Given the description of an element on the screen output the (x, y) to click on. 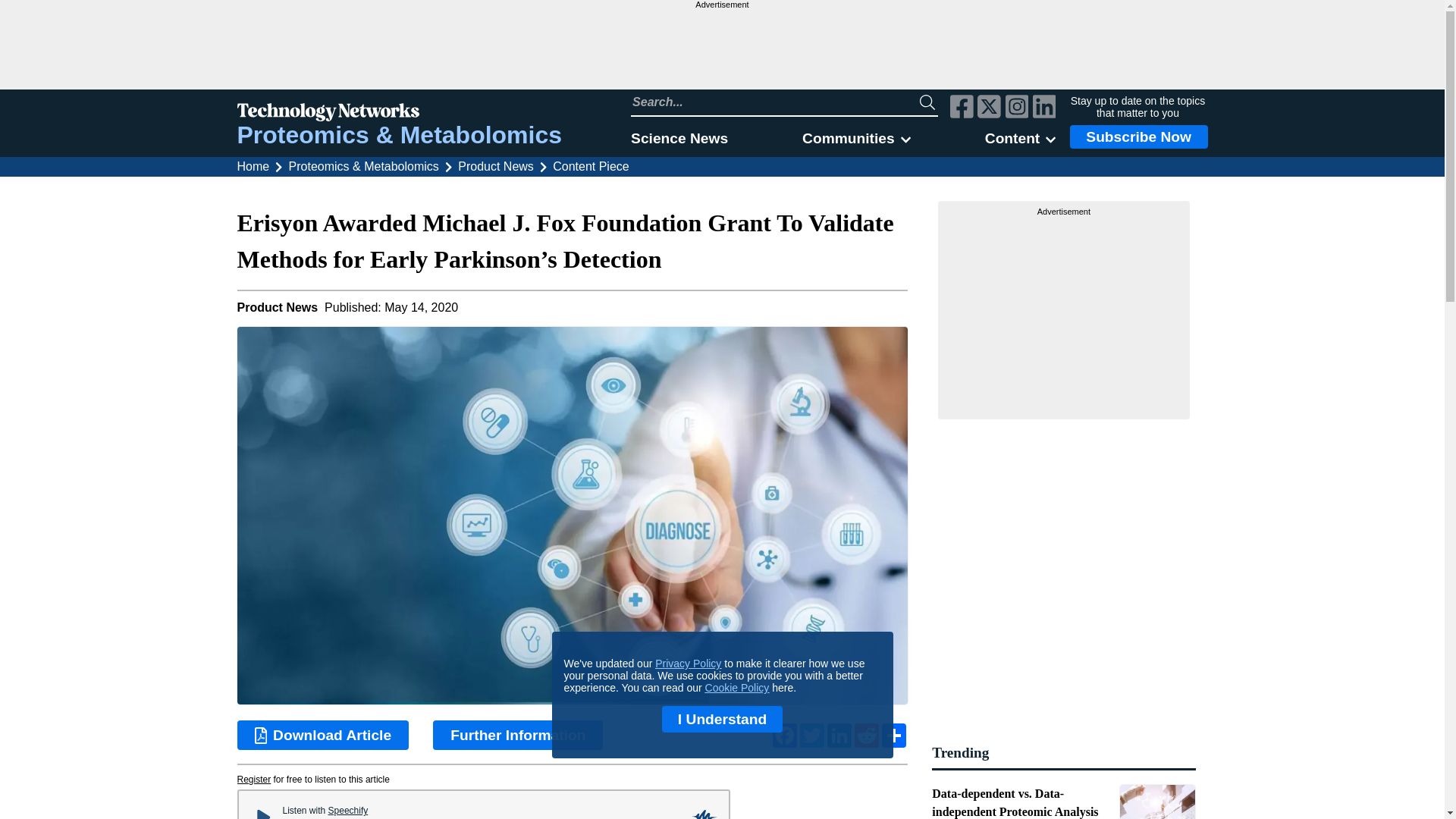
Privacy Policy (687, 663)
Search Technology Networks website input field (775, 102)
3rd party ad content (1063, 312)
Cookie Policy (737, 687)
I Understand (722, 718)
Technology Networks logo (398, 113)
3rd party ad content (721, 49)
